Given the description of an element on the screen output the (x, y) to click on. 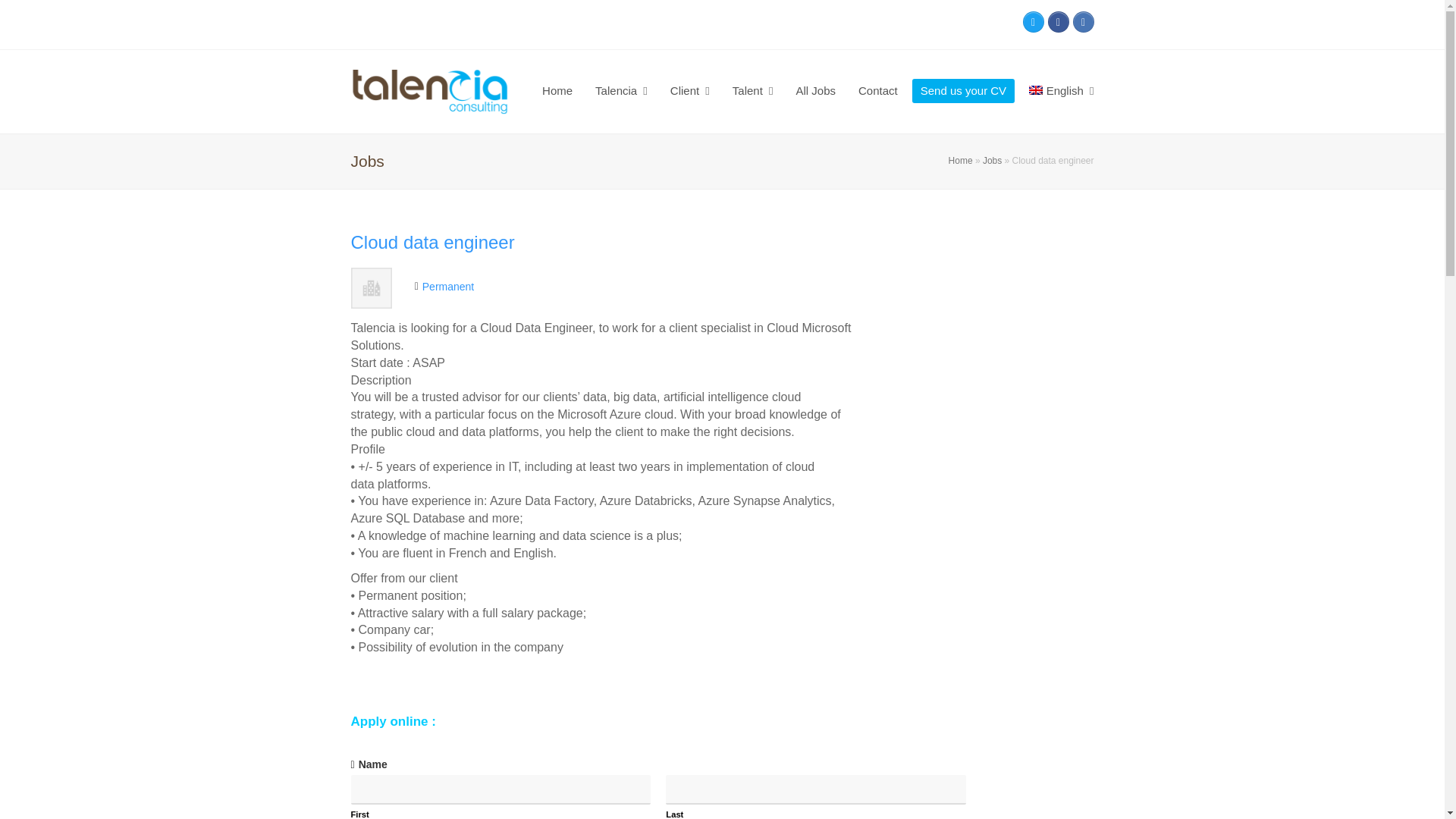
LinkedIn (1082, 21)
Talencia (621, 91)
All Jobs (815, 91)
Talent (752, 91)
Send us your CV (962, 91)
Facebook (1058, 21)
Contact (877, 91)
Twitter (1032, 21)
Home (557, 91)
English (1061, 91)
English (1061, 91)
Client (689, 91)
LinkedIn (1082, 21)
Facebook (1058, 21)
Twitter (1032, 21)
